Given the description of an element on the screen output the (x, y) to click on. 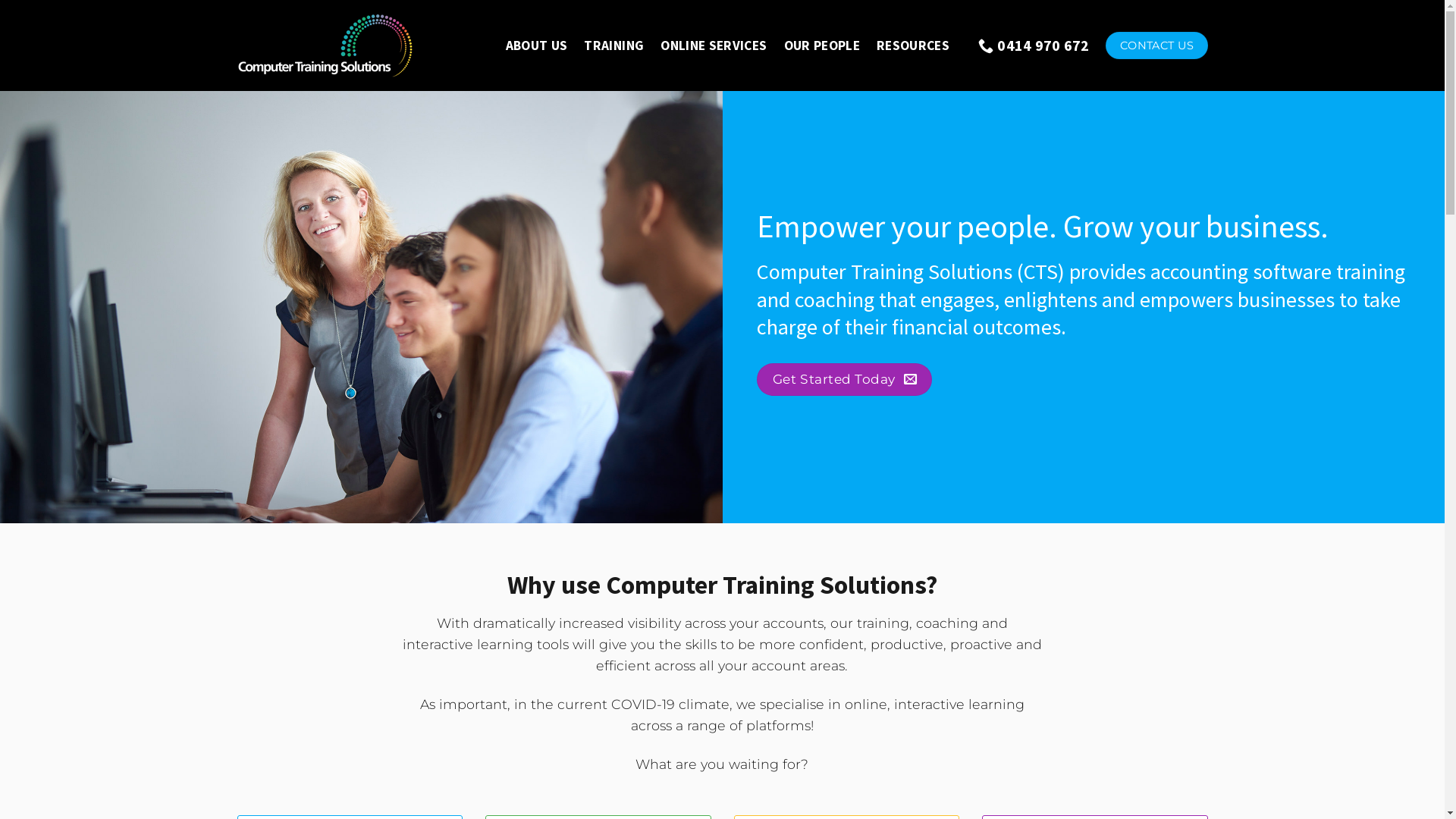
0414 970 672 Element type: text (1033, 45)
Get Started Today Element type: text (843, 379)
OUR PEOPLE Element type: text (822, 45)
Skip to content Element type: text (0, 0)
RESOURCES Element type: text (912, 45)
ABOUT US Element type: text (536, 45)
TRAINING Element type: text (613, 45)
ONLINE SERVICES Element type: text (713, 45)
CONTACT US Element type: text (1156, 45)
